Given the description of an element on the screen output the (x, y) to click on. 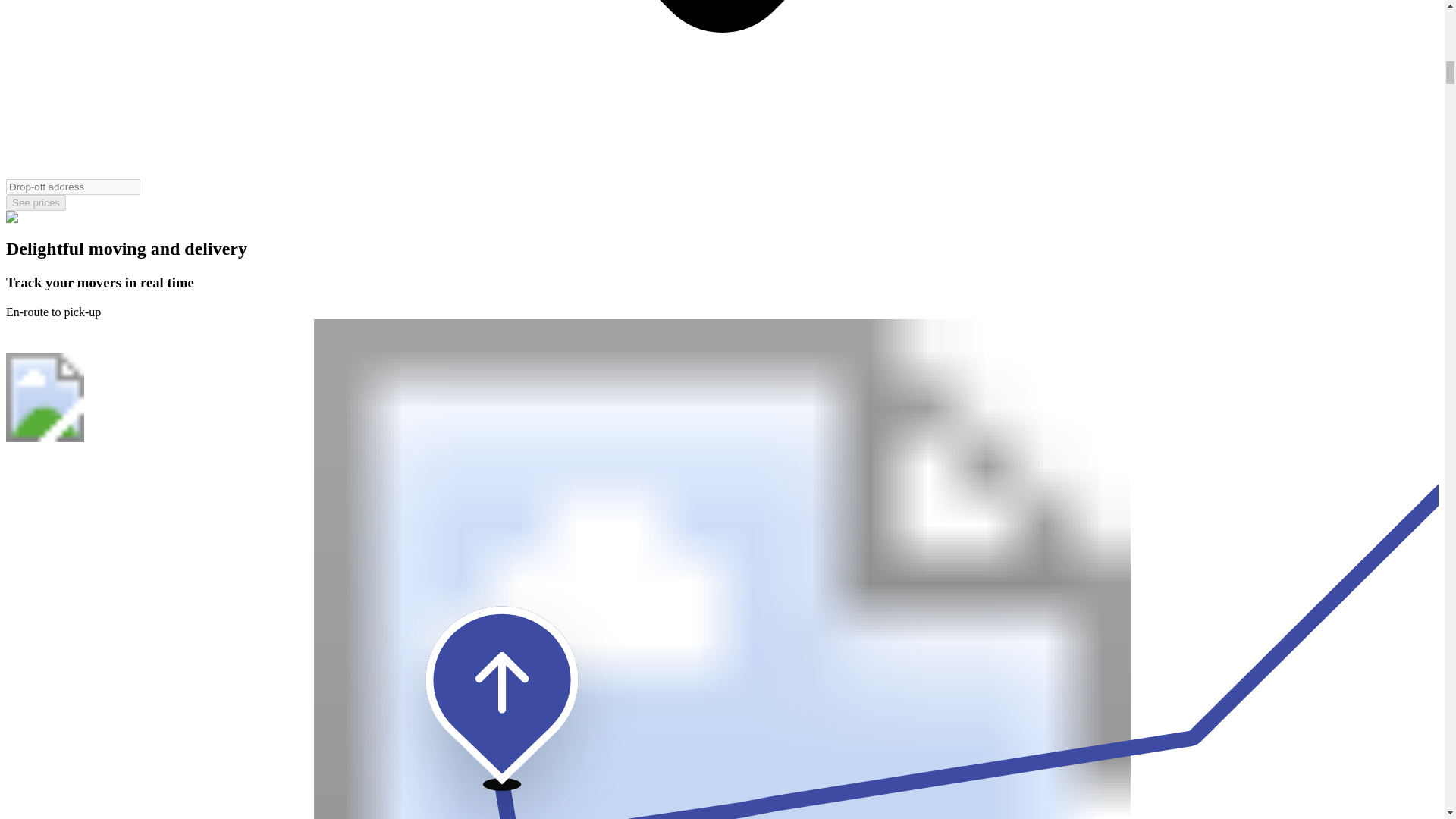
See prices (35, 202)
